Given the description of an element on the screen output the (x, y) to click on. 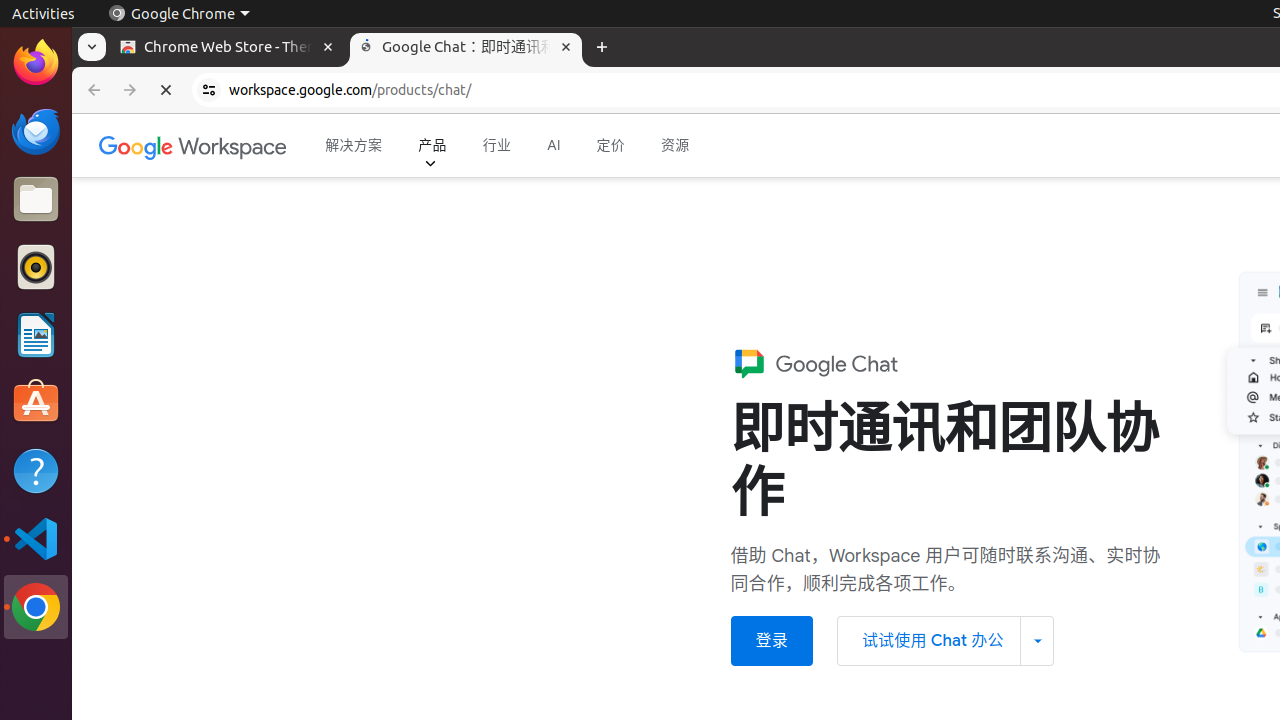
资源 Element type: push-button (675, 146)
Reload Element type: push-button (166, 90)
Rhythmbox Element type: push-button (36, 267)
Thunderbird Mail Element type: push-button (36, 131)
